Given the description of an element on the screen output the (x, y) to click on. 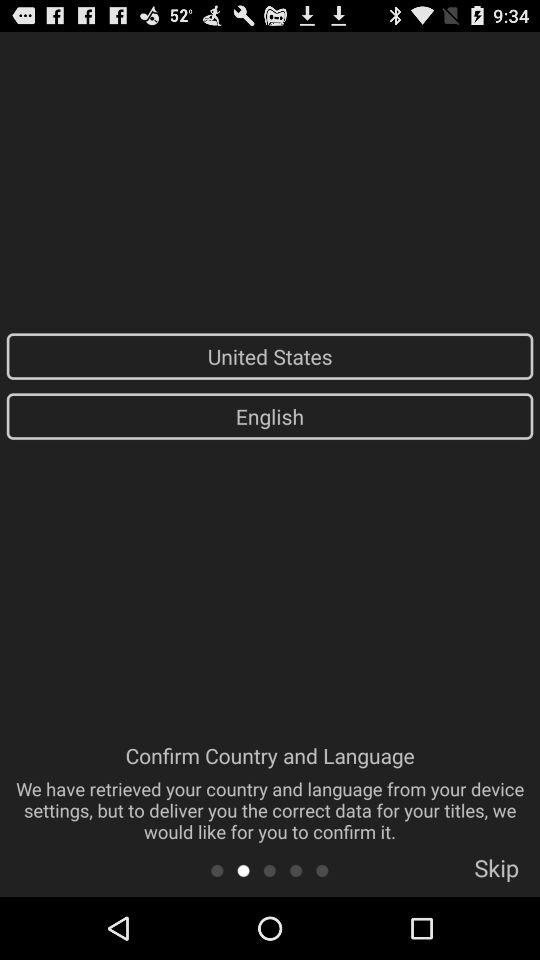
turn off item below the confirm country and item (295, 870)
